Given the description of an element on the screen output the (x, y) to click on. 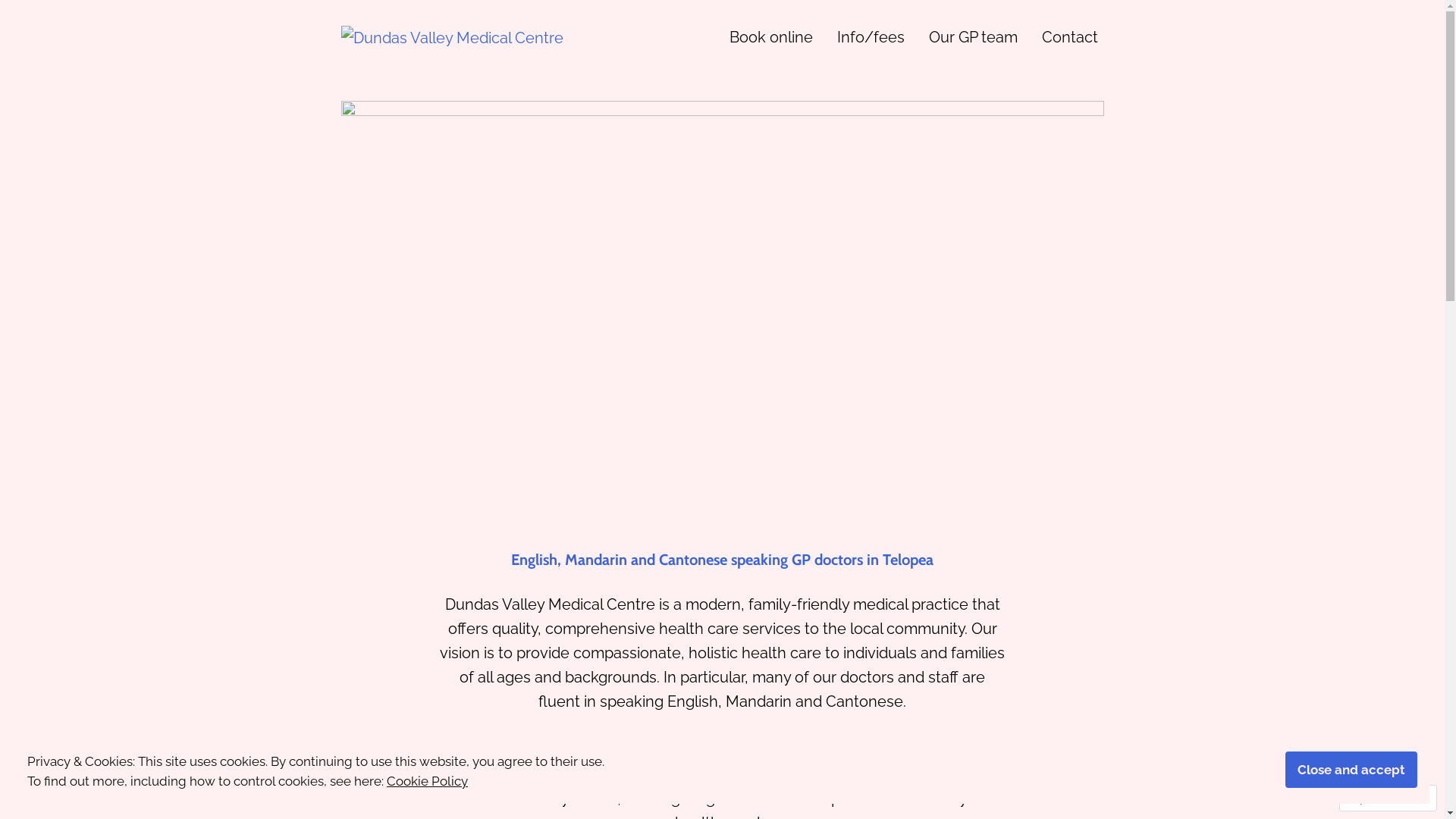
Close and accept Element type: text (1351, 769)
Dundas Valley Medical Centre Element type: text (481, 66)
Our GP team Element type: text (972, 36)
Contact Element type: text (1069, 36)
Book online Element type: text (770, 36)
Info/fees Element type: text (870, 36)
Follow Element type: text (1373, 797)
Cookie Policy Element type: text (426, 780)
